Given the description of an element on the screen output the (x, y) to click on. 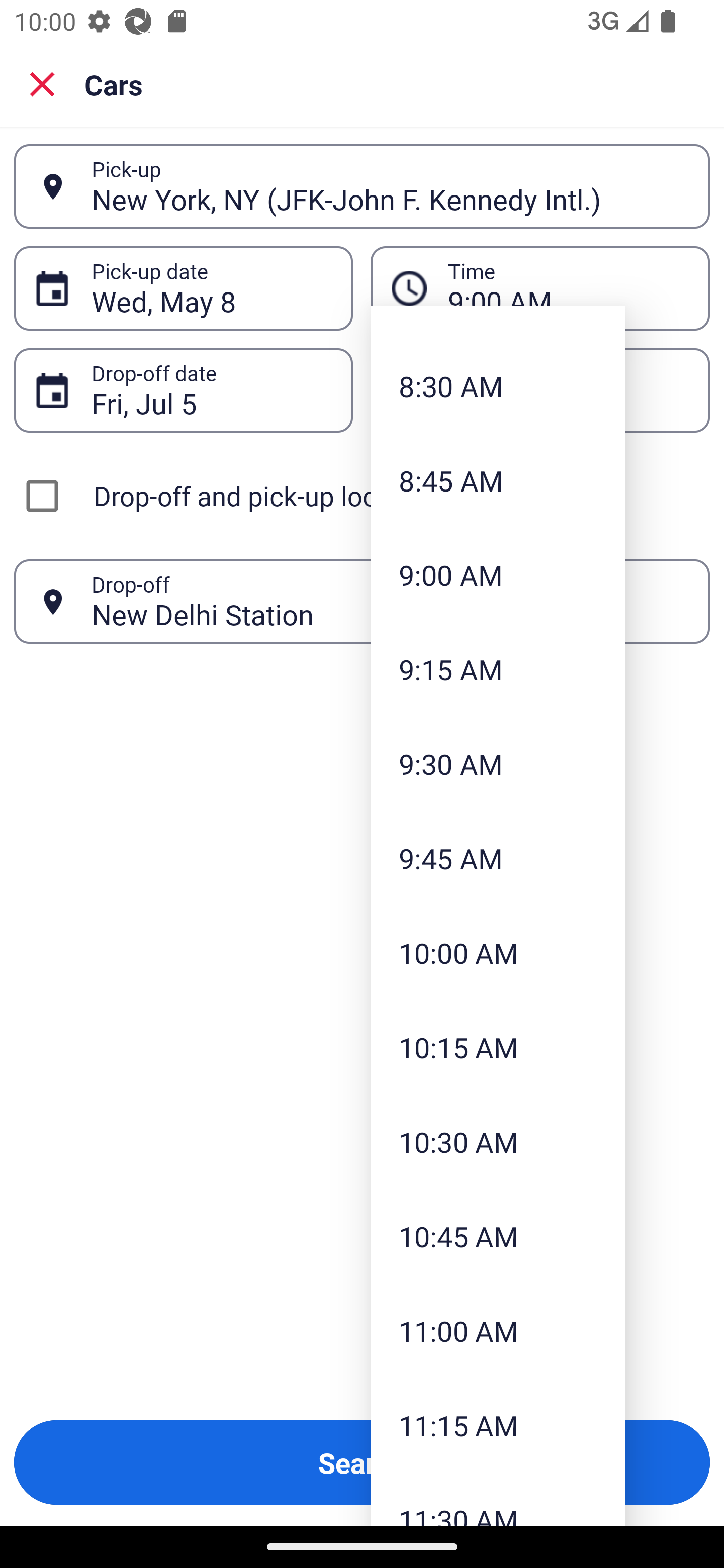
8:30 AM (497, 385)
8:45 AM (497, 480)
9:00 AM (497, 575)
9:15 AM (497, 669)
9:30 AM (497, 763)
9:45 AM (497, 858)
10:00 AM (497, 953)
10:15 AM (497, 1047)
10:30 AM (497, 1141)
10:45 AM (497, 1236)
11:00 AM (497, 1331)
11:15 AM (497, 1425)
11:30 AM (497, 1498)
